Given the description of an element on the screen output the (x, y) to click on. 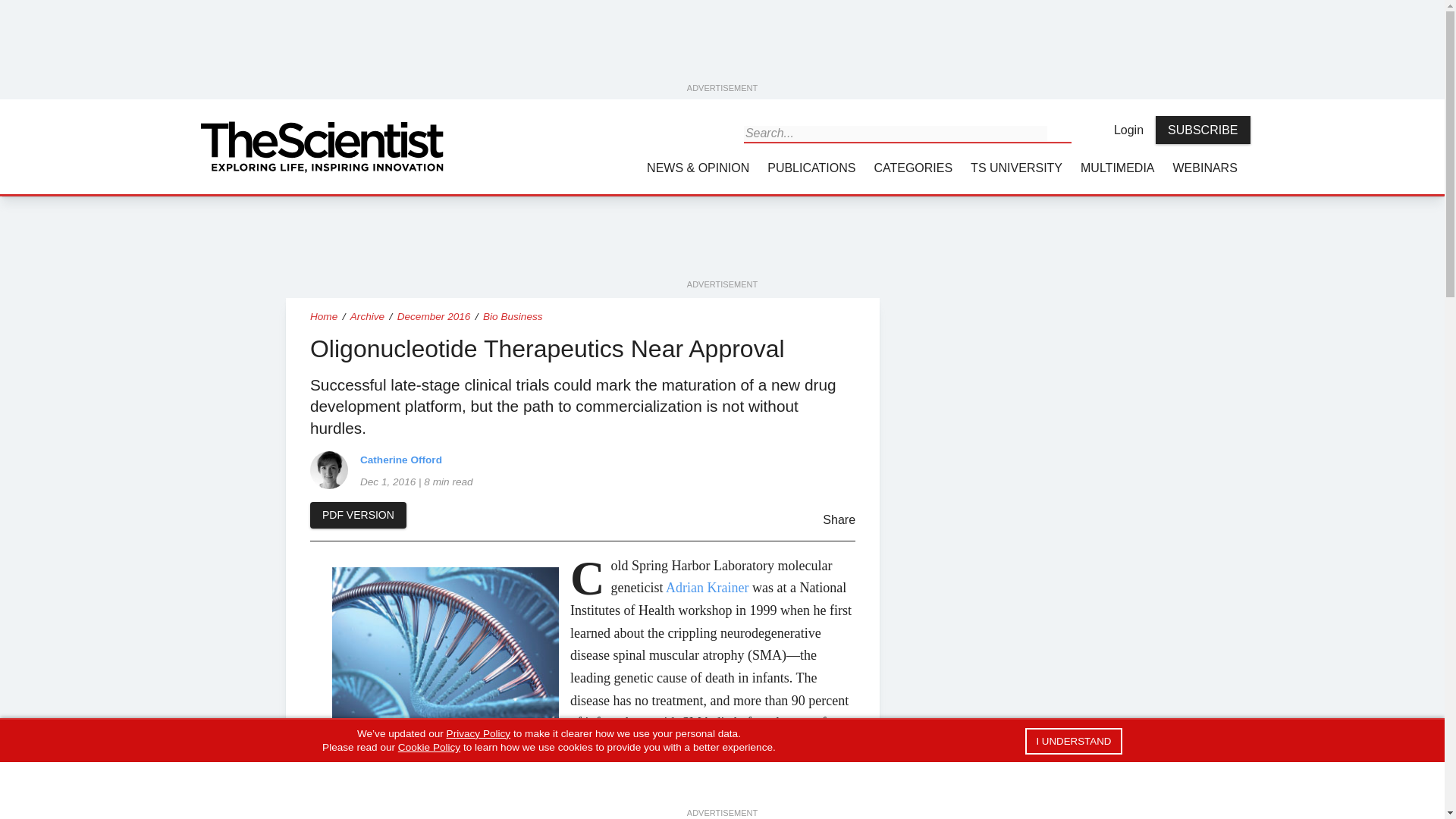
Catherine Offord (328, 469)
